Given the description of an element on the screen output the (x, y) to click on. 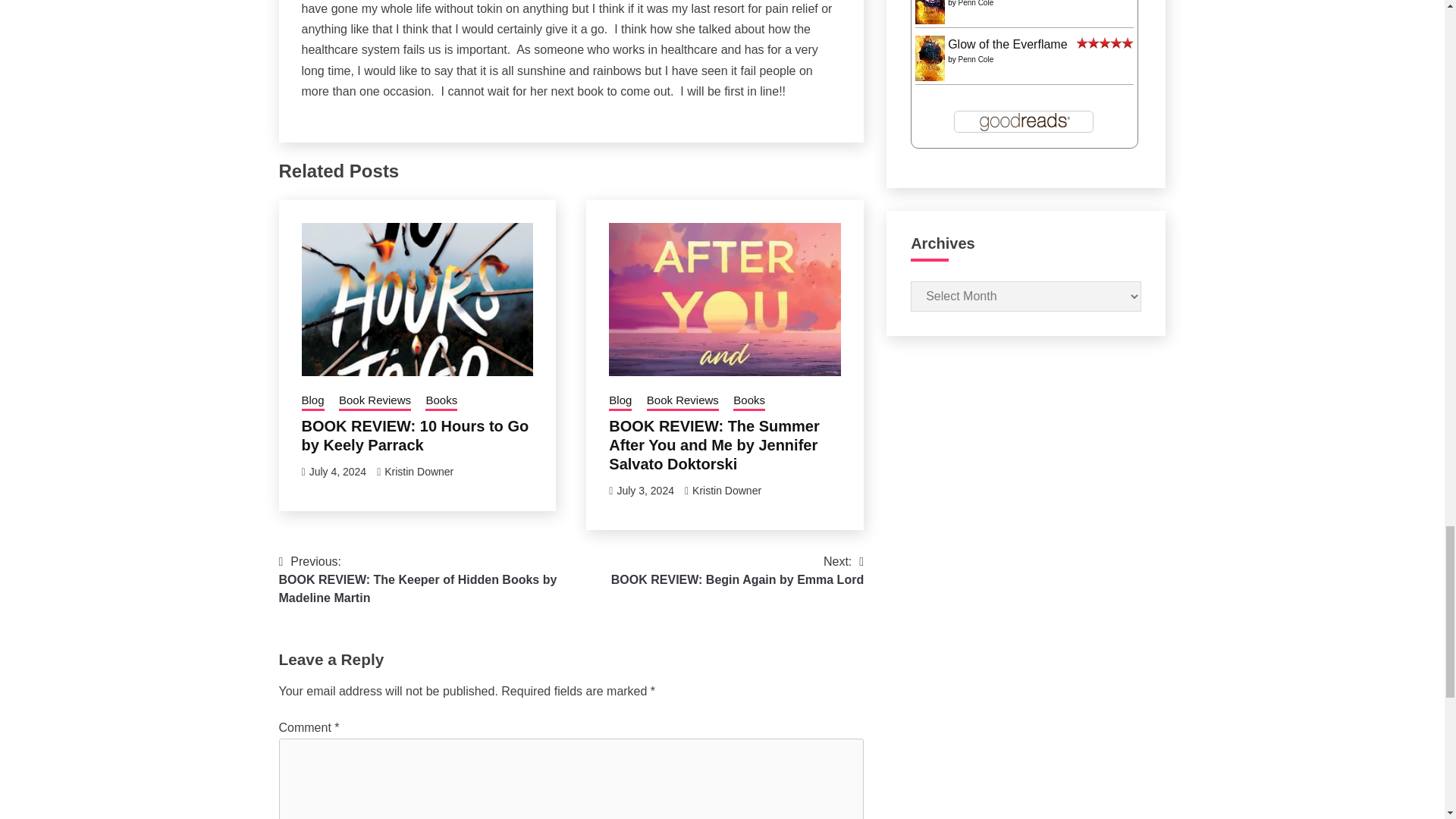
Blog (312, 401)
Book Reviews (374, 401)
Books (441, 401)
